Given the description of an element on the screen output the (x, y) to click on. 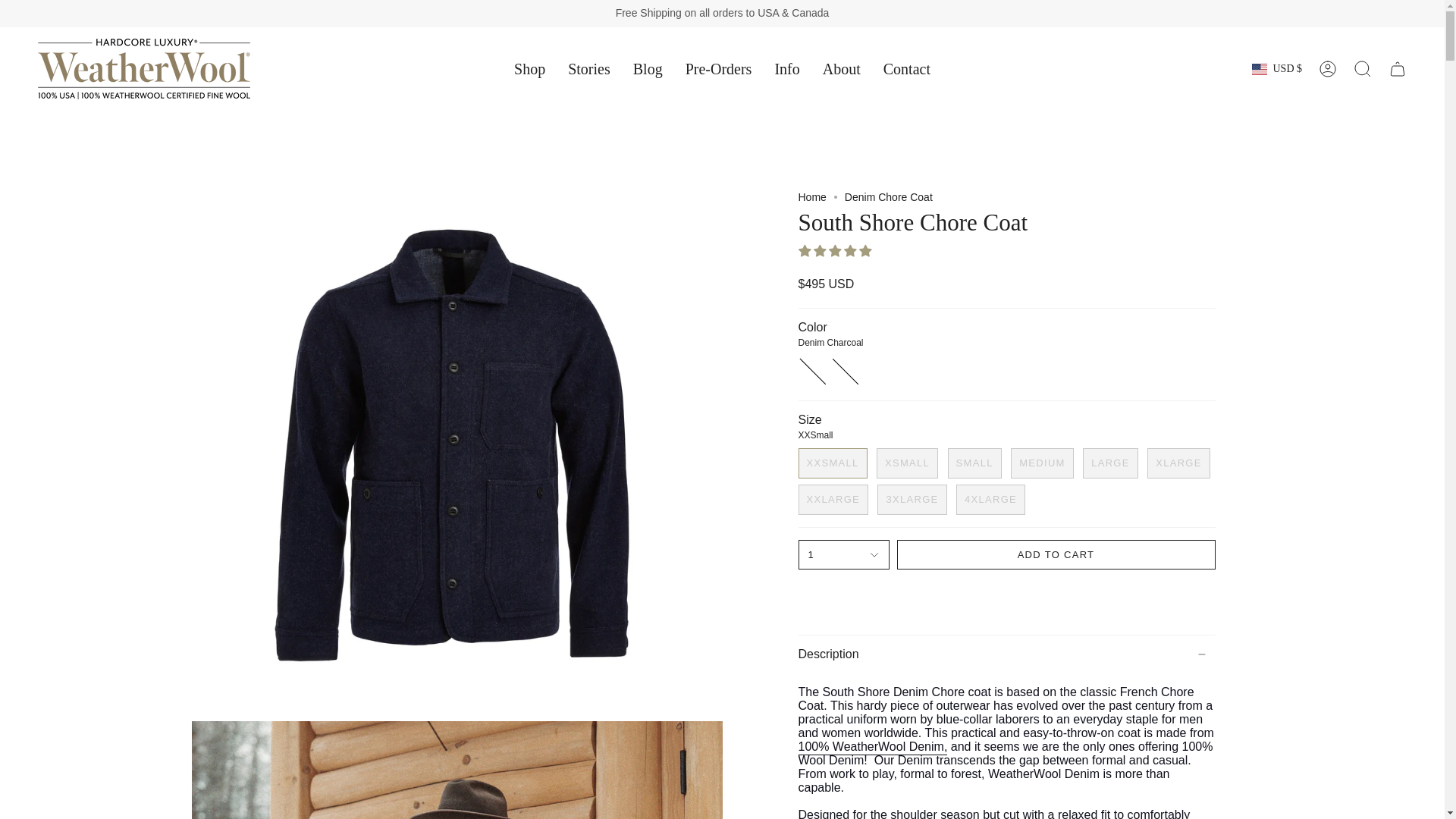
Cart (1397, 68)
Search (1362, 68)
My Account (1327, 68)
